Given the description of an element on the screen output the (x, y) to click on. 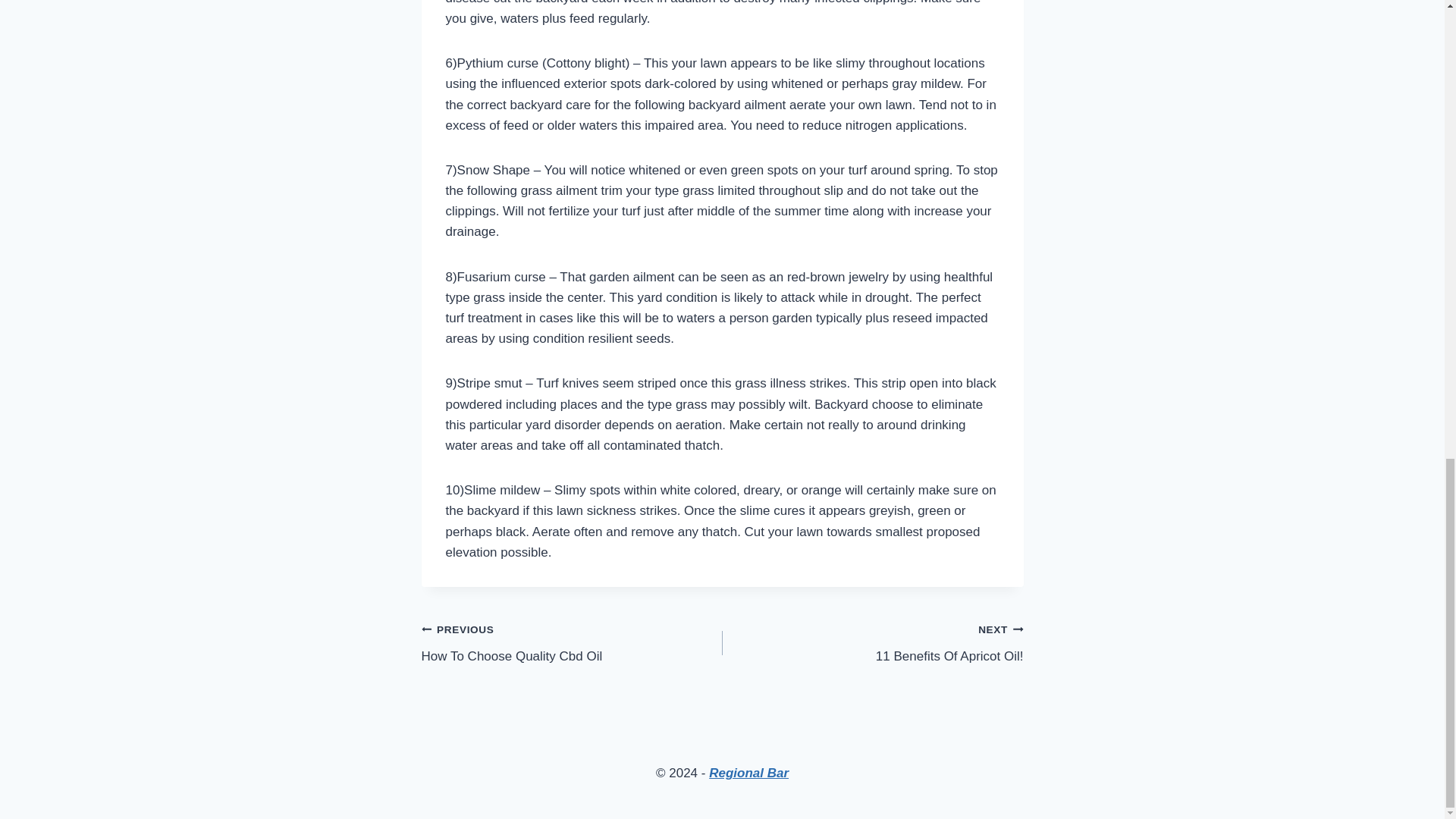
Regional Bar (572, 642)
